Given the description of an element on the screen output the (x, y) to click on. 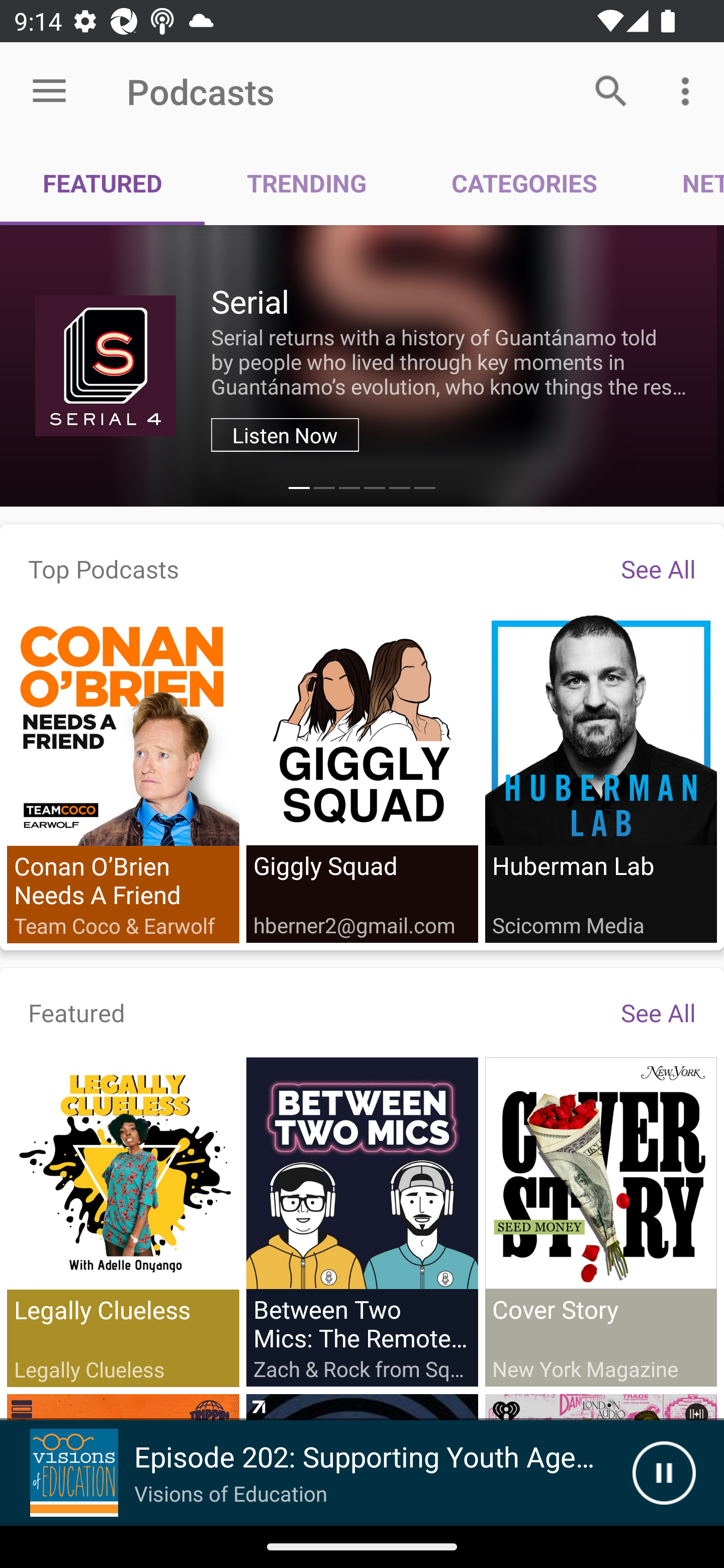
Open menu (49, 91)
Search (611, 90)
More options (688, 90)
FEATURED (102, 183)
TRENDING (306, 183)
CATEGORIES (524, 183)
Top Podcasts (103, 567)
See All (658, 567)
Conan O’Brien Needs A Friend Team Coco & Earwolf (123, 778)
Giggly Squad hberner2@gmail.com (361, 777)
Huberman Lab Scicomm Media (600, 777)
Featured (76, 1011)
See All (658, 1011)
Legally Clueless (123, 1221)
Cover Story New York Magazine (600, 1221)
Pause (663, 1472)
